Given the description of an element on the screen output the (x, y) to click on. 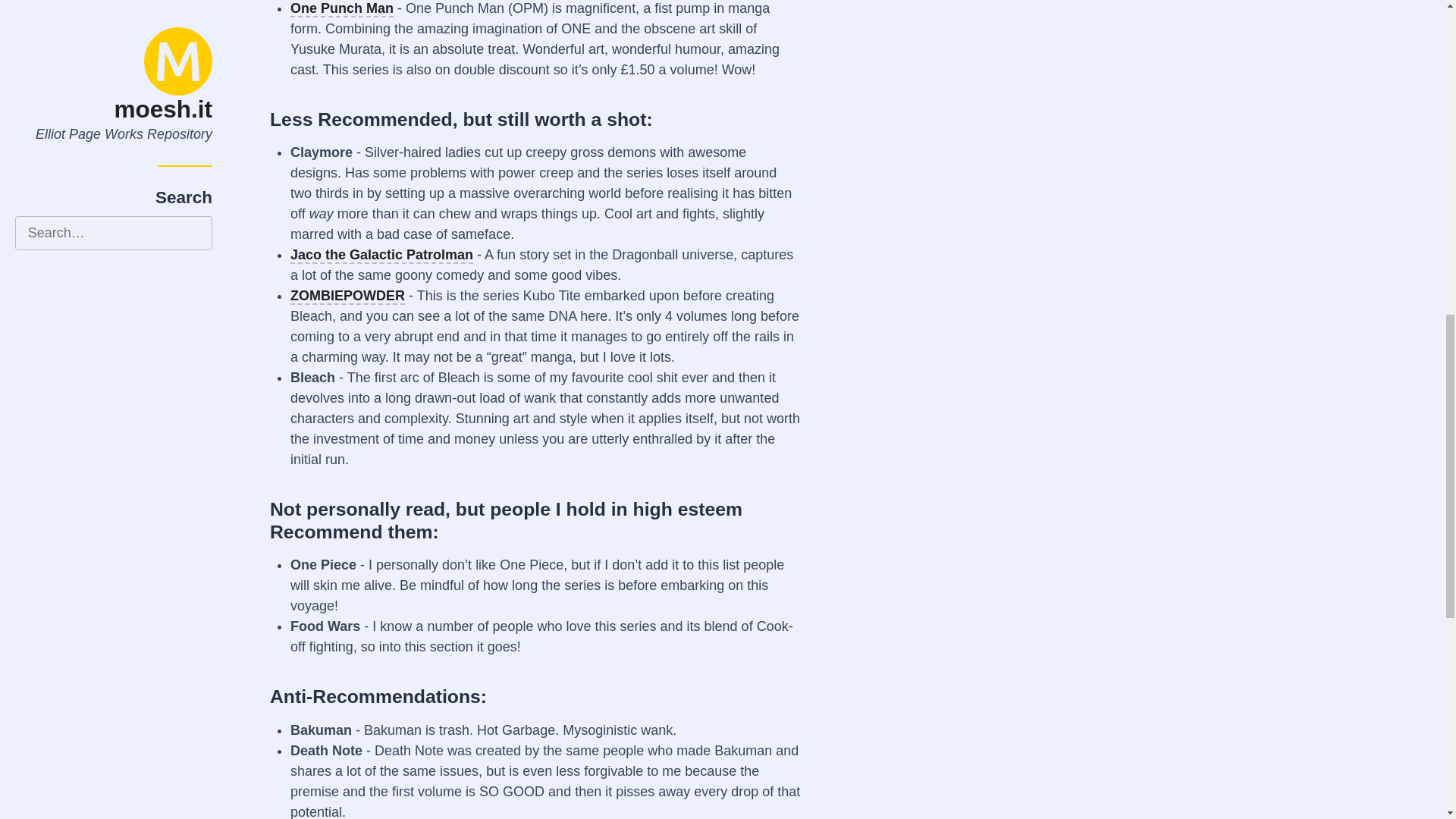
ZOMBIEPOWDER (346, 296)
One Punch Man (341, 8)
Jaco the Galactic Patrolman (381, 255)
